Given the description of an element on the screen output the (x, y) to click on. 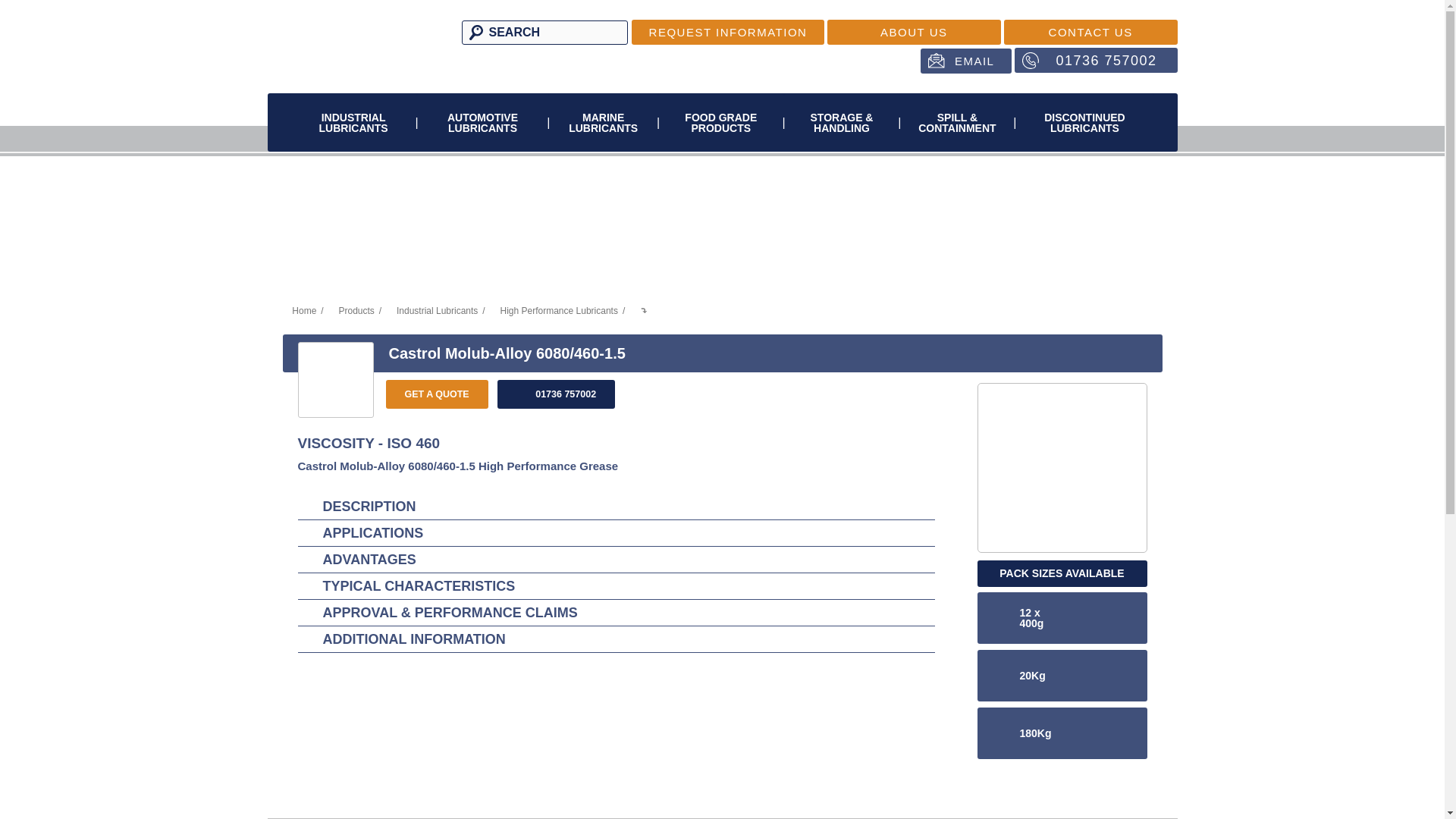
ABOUT US (914, 32)
FOOD GRADE PRODUCTS (721, 122)
01736 757002 (1095, 59)
CONTACT US (1090, 32)
EMAIL (965, 60)
MARINE LUBRICANTS (603, 122)
Search for: (544, 32)
AUTOMOTIVE LUBRICANTS (482, 122)
Search (472, 32)
Search (472, 32)
